Given the description of an element on the screen output the (x, y) to click on. 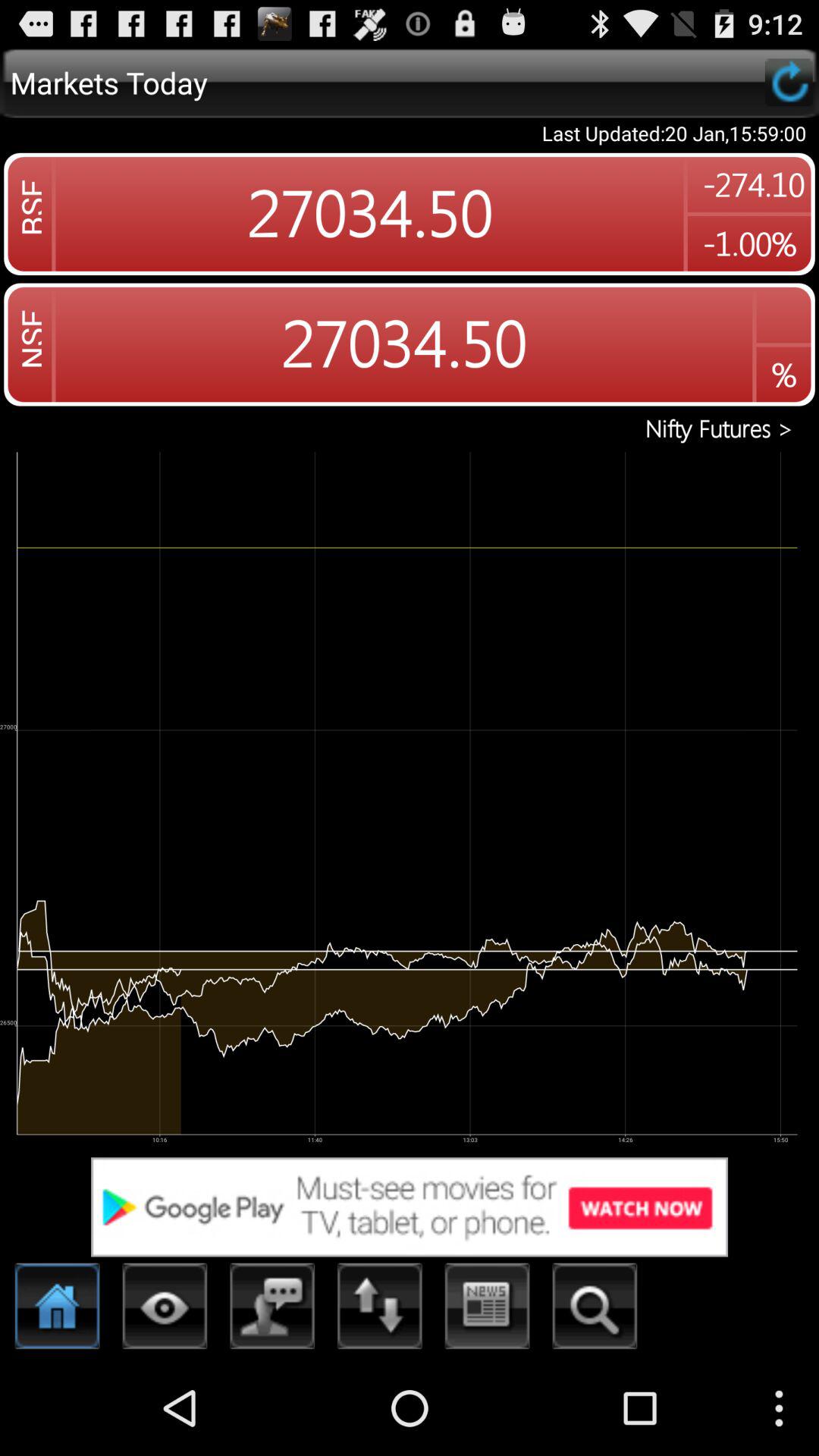
home (57, 1310)
